Given the description of an element on the screen output the (x, y) to click on. 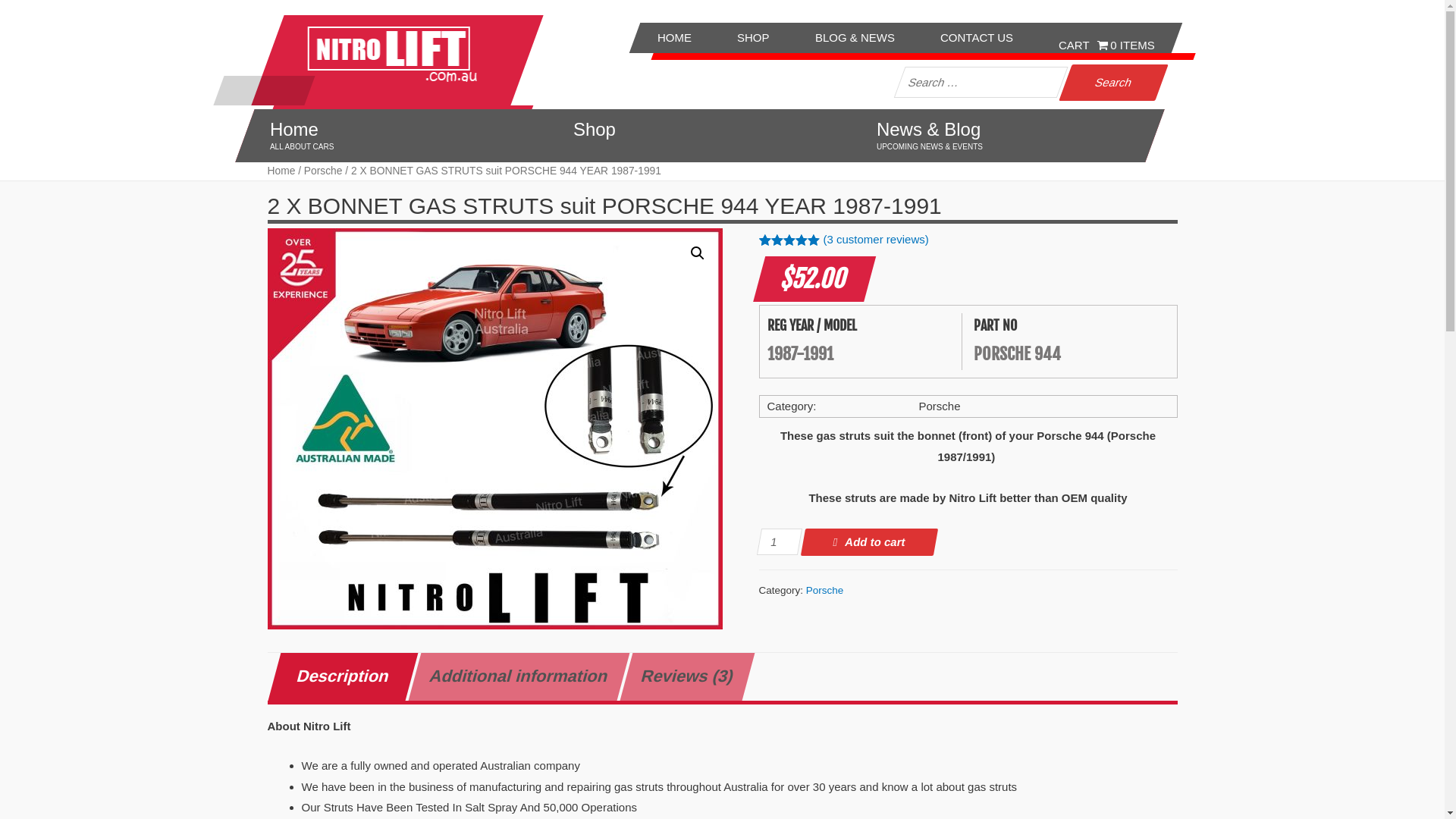
BLOG & NEWS Element type: text (854, 37)
HOME Element type: text (674, 37)
SHOP Element type: text (753, 37)
Search Element type: text (1106, 82)
CONTACT US Element type: text (976, 37)
Porsche Element type: text (825, 590)
(3 customer reviews) Element type: text (875, 238)
0 ITEMS Element type: text (1106, 37)
BONNET_GAS_STRUTS_suit_PORSCHE_944_YEAR_1987-1991 Element type: hover (493, 428)
Additional information Element type: text (512, 676)
News & Blog Element type: text (1004, 129)
Home Element type: text (397, 129)
Home Element type: text (280, 170)
Reviews (3) Element type: text (680, 676)
Add to cart Element type: text (866, 541)
Shop Element type: text (701, 129)
Description Element type: text (336, 676)
Porsche Element type: text (323, 170)
